Given the description of an element on the screen output the (x, y) to click on. 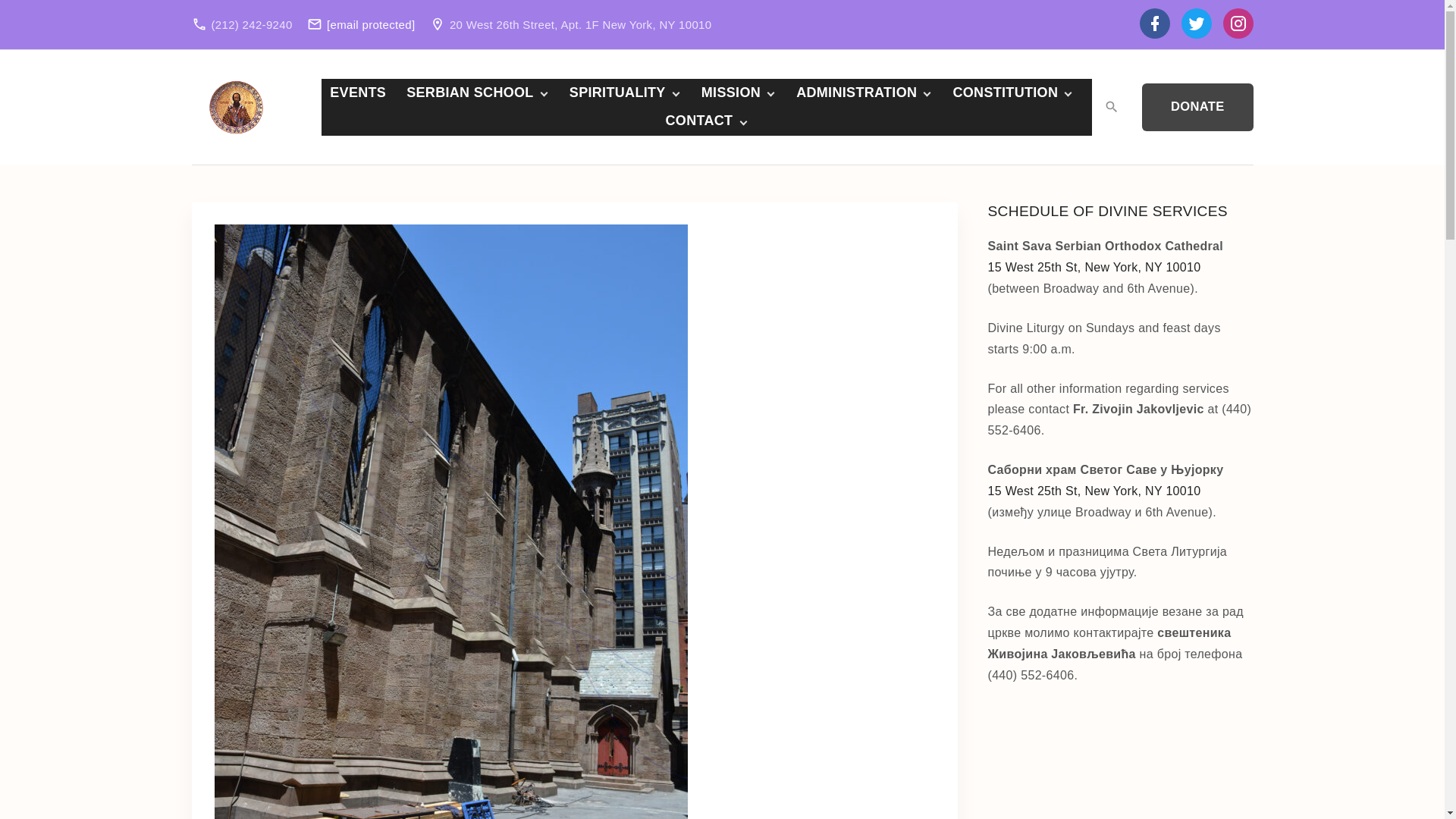
MISSION (731, 92)
CONTACT (700, 121)
SERBIAN SCHOOL (470, 92)
twitter (1195, 24)
instagram (1237, 24)
EVENTS (357, 92)
DONATE (1197, 107)
SPIRITUALITY (617, 92)
facebook (1153, 24)
CONSTITUTION (1005, 92)
